Given the description of an element on the screen output the (x, y) to click on. 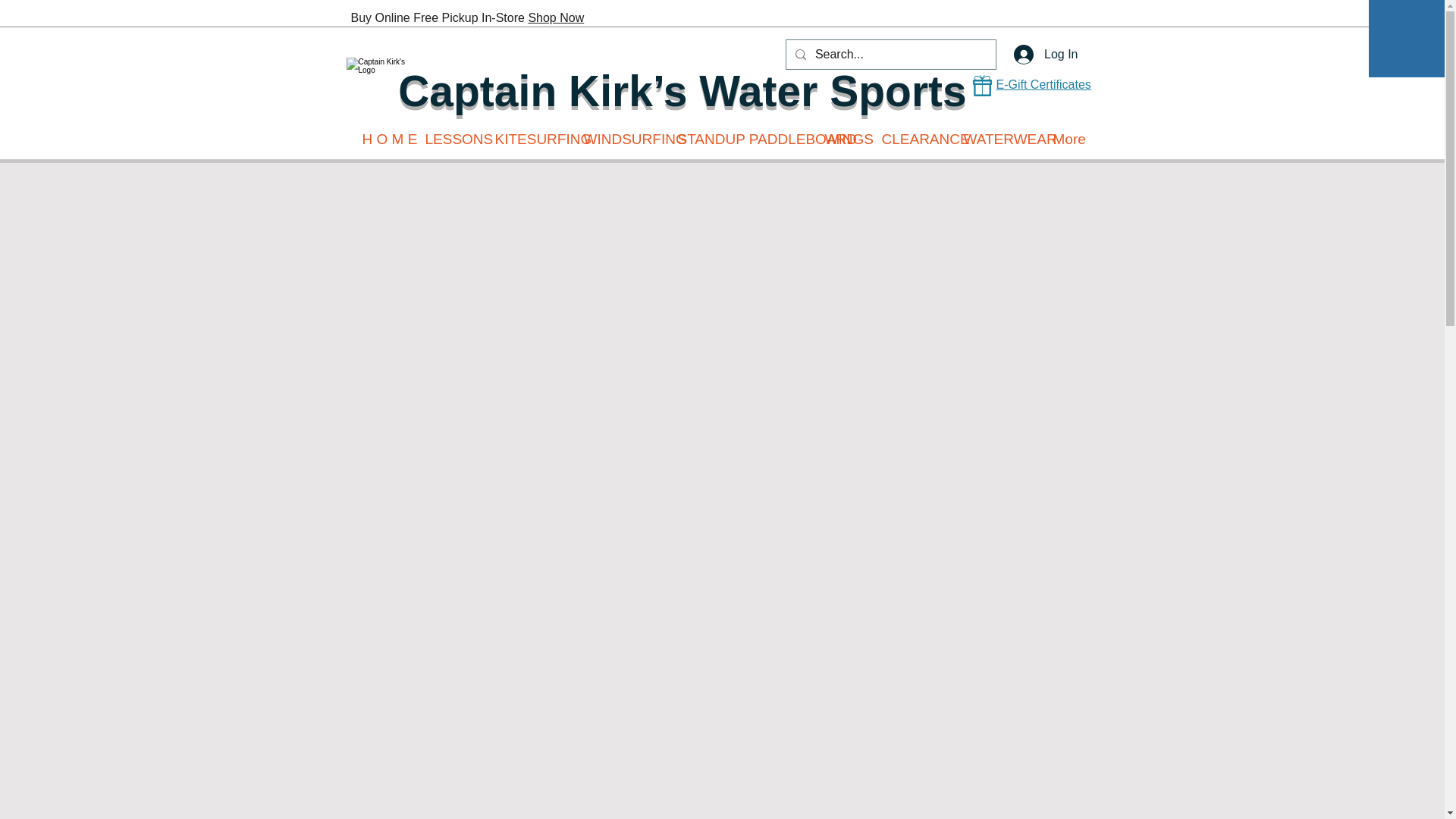
CLEARANCE (911, 138)
WATERWEAR (997, 138)
LESSONS (448, 138)
WINDSURFING (618, 138)
H O M E (381, 138)
KITESURFING (527, 138)
E-Gift Certificates (1042, 83)
Shop Now (555, 17)
WINGS (840, 138)
Captain Kirk's logo (381, 91)
STANDUP PADDLEBOARD (738, 138)
